Given the description of an element on the screen output the (x, y) to click on. 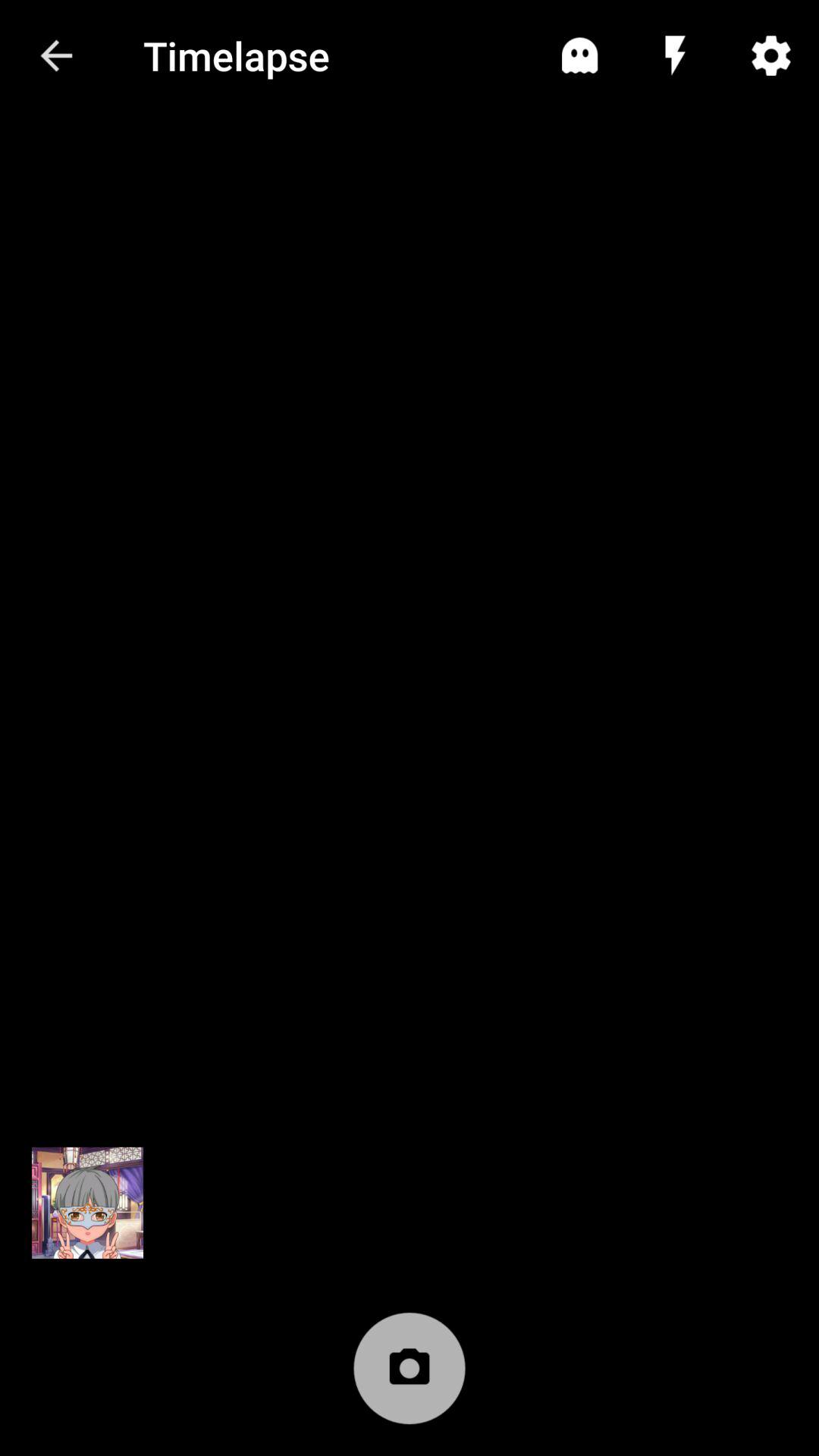
switching (87, 1202)
